Given the description of an element on the screen output the (x, y) to click on. 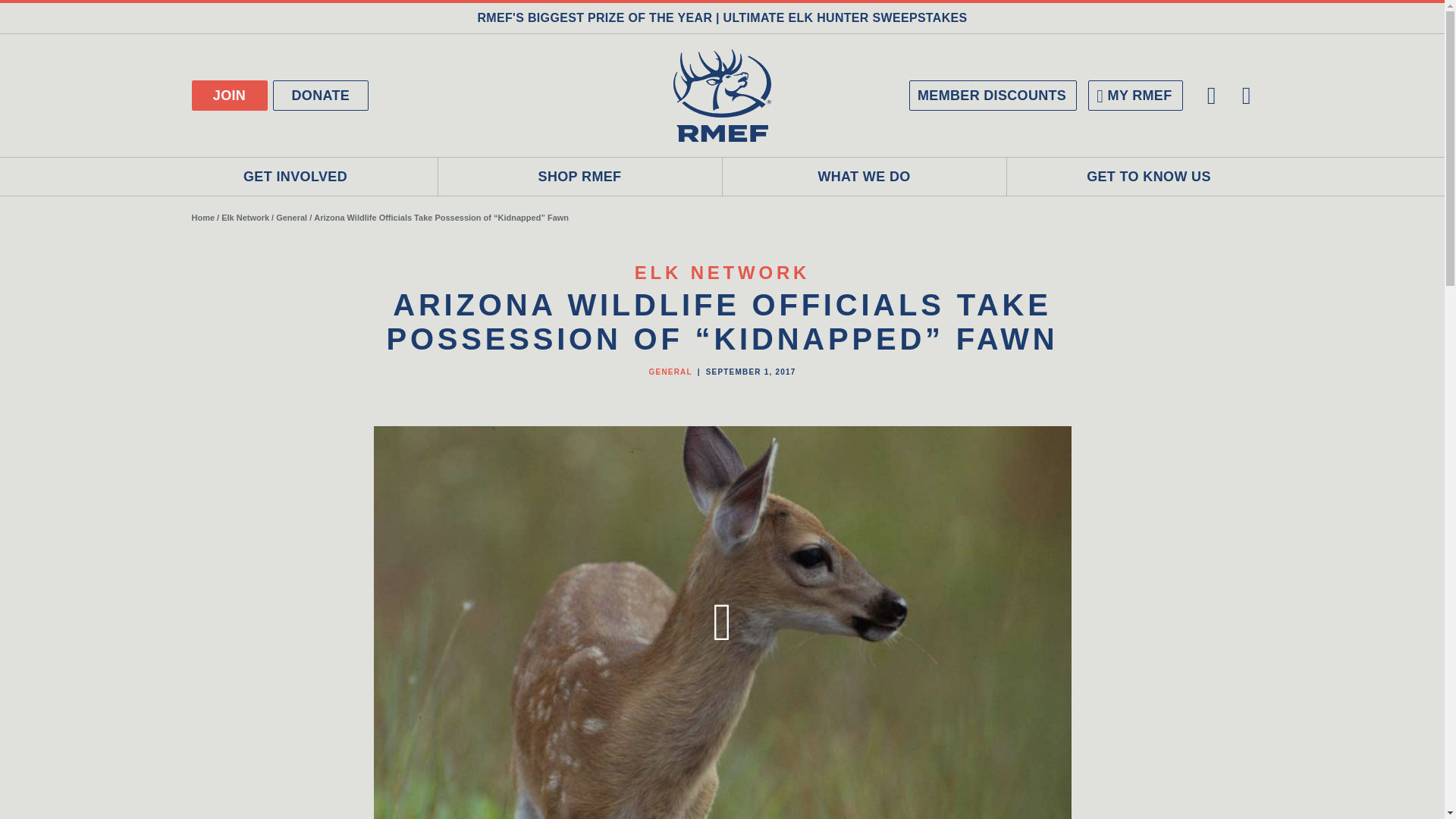
WHAT WE DO (864, 176)
MEMBER DISCOUNTS (992, 95)
SHOP RMEF (580, 176)
JOIN (228, 95)
GET TO KNOW US (1149, 176)
MY RMEF (1134, 95)
GET INVOLVED (295, 176)
DONATE (321, 95)
